Given the description of an element on the screen output the (x, y) to click on. 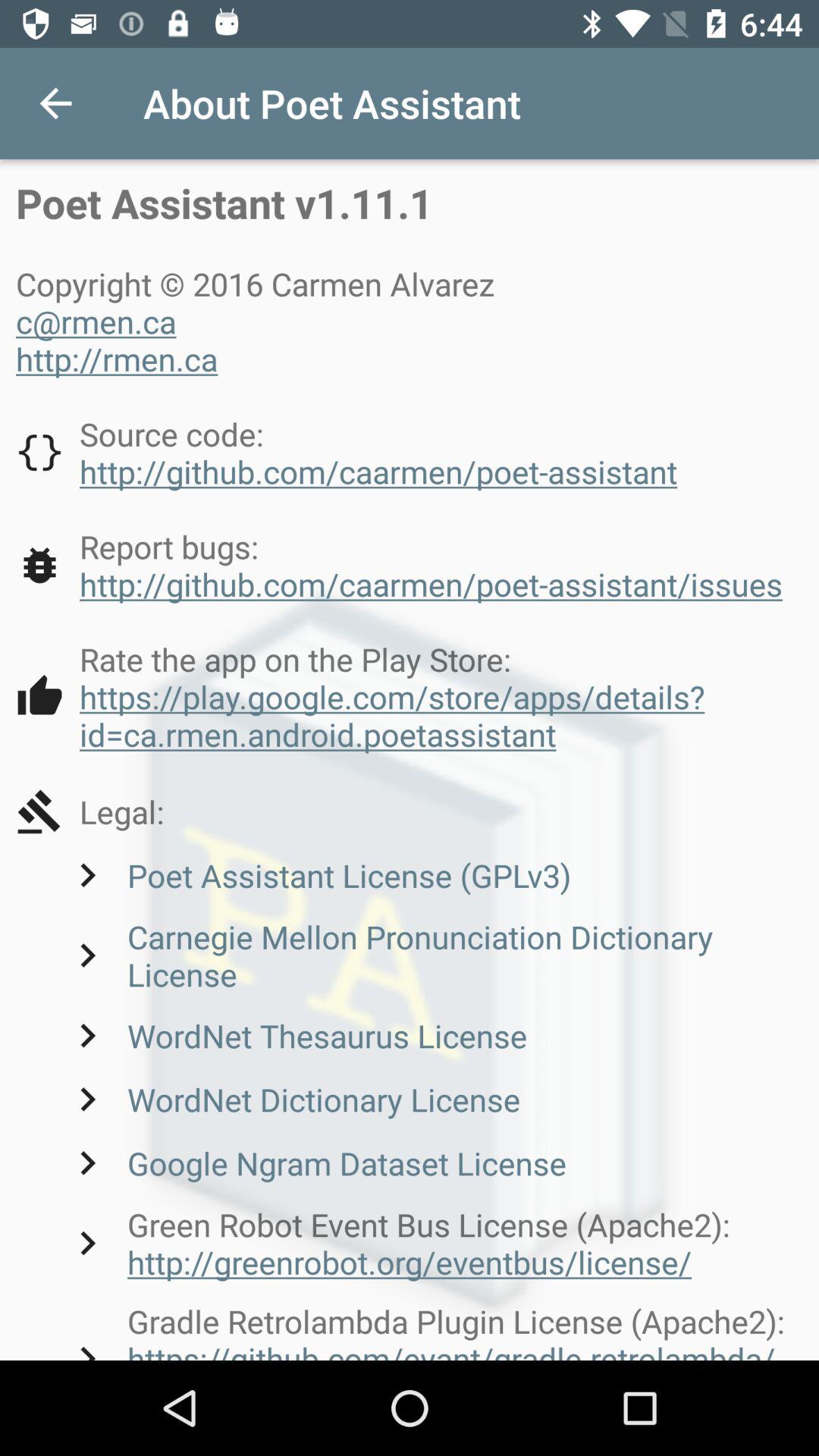
turn off icon below green robot event item (433, 1329)
